Given the description of an element on the screen output the (x, y) to click on. 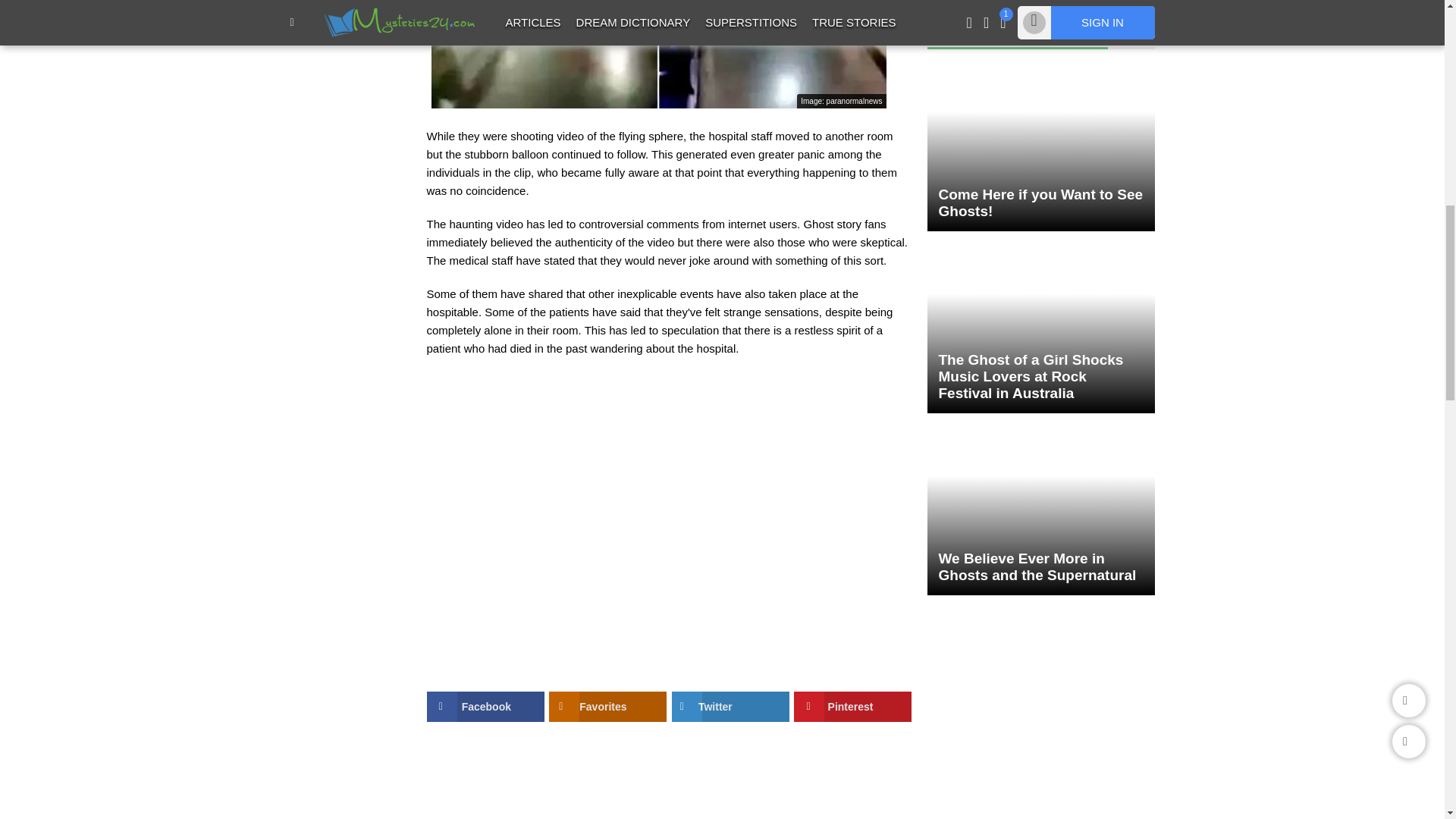
Add to favorites (607, 706)
Share this page on Twitter (730, 706)
Share this page on Facebook (484, 706)
Share this page on Pinterest (852, 706)
Come Here if you Want to See Ghosts! (1040, 145)
We Believe Ever More in Ghosts and the Supernatural (1040, 510)
The Meaning of Sugarcane in a Dream (1027, 1)
